Given the description of an element on the screen output the (x, y) to click on. 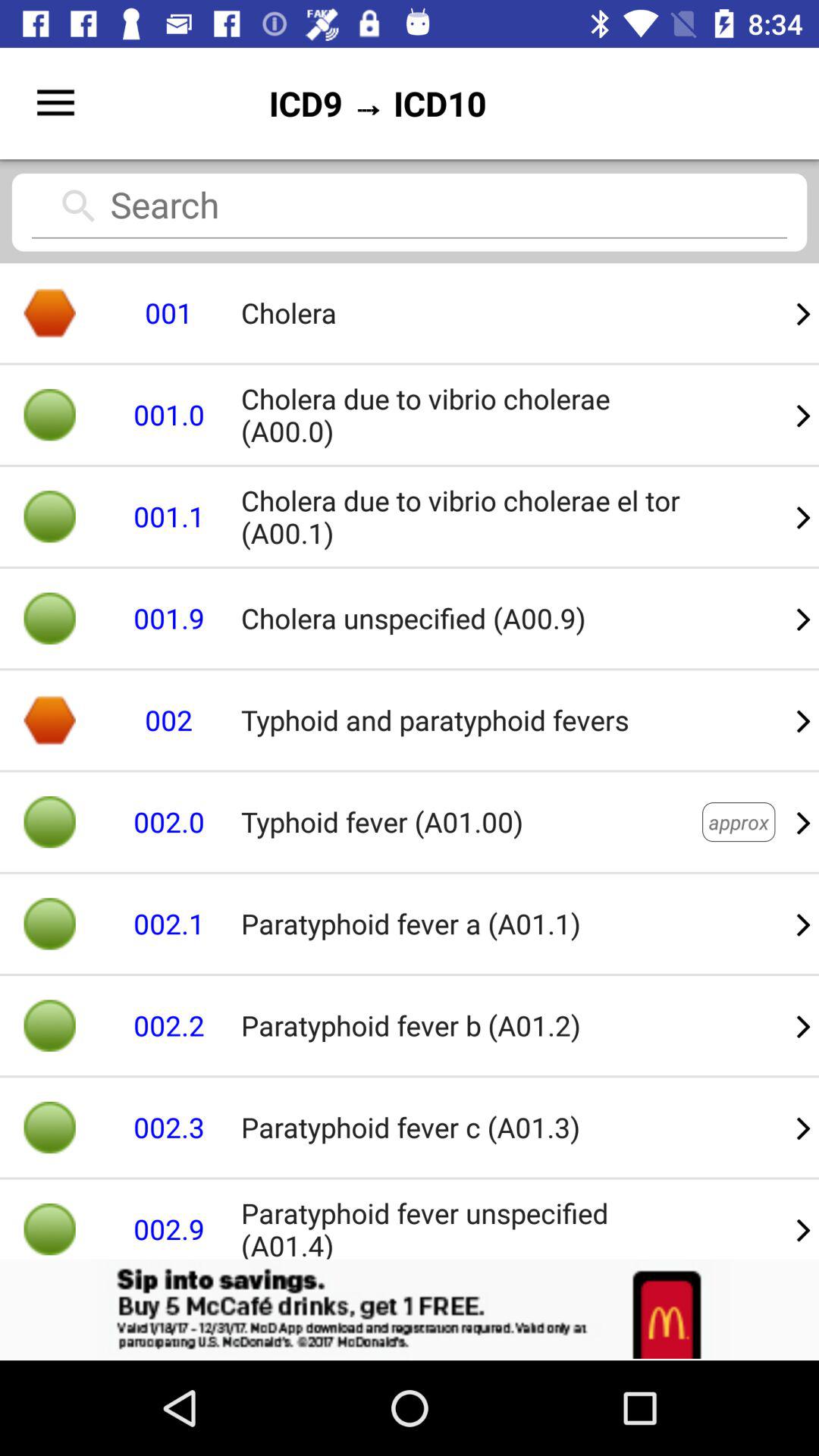
press the item to the right of cholera unspecified a00 icon (803, 720)
